Given the description of an element on the screen output the (x, y) to click on. 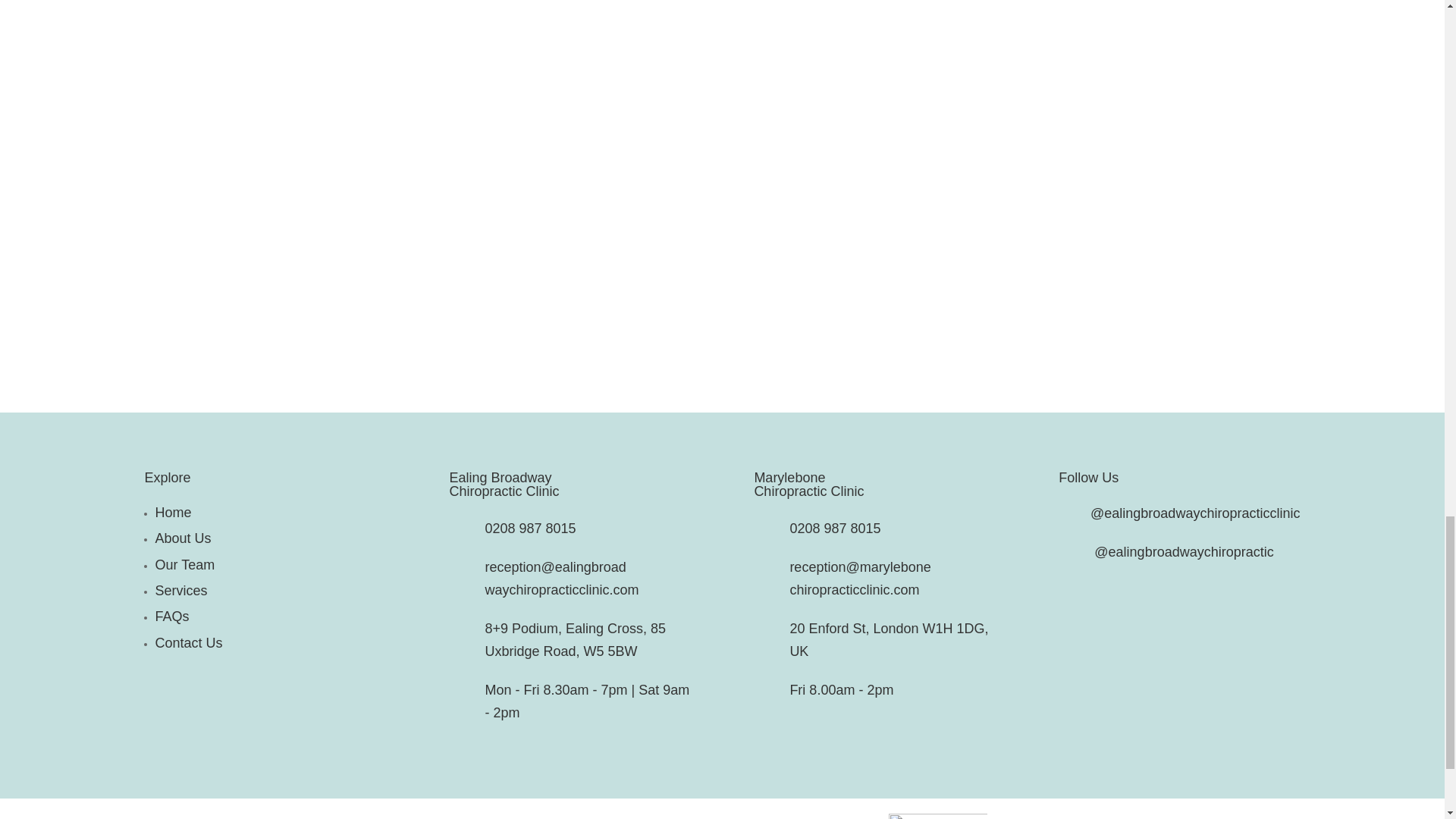
pruhealth (937, 816)
